Given the description of an element on the screen output the (x, y) to click on. 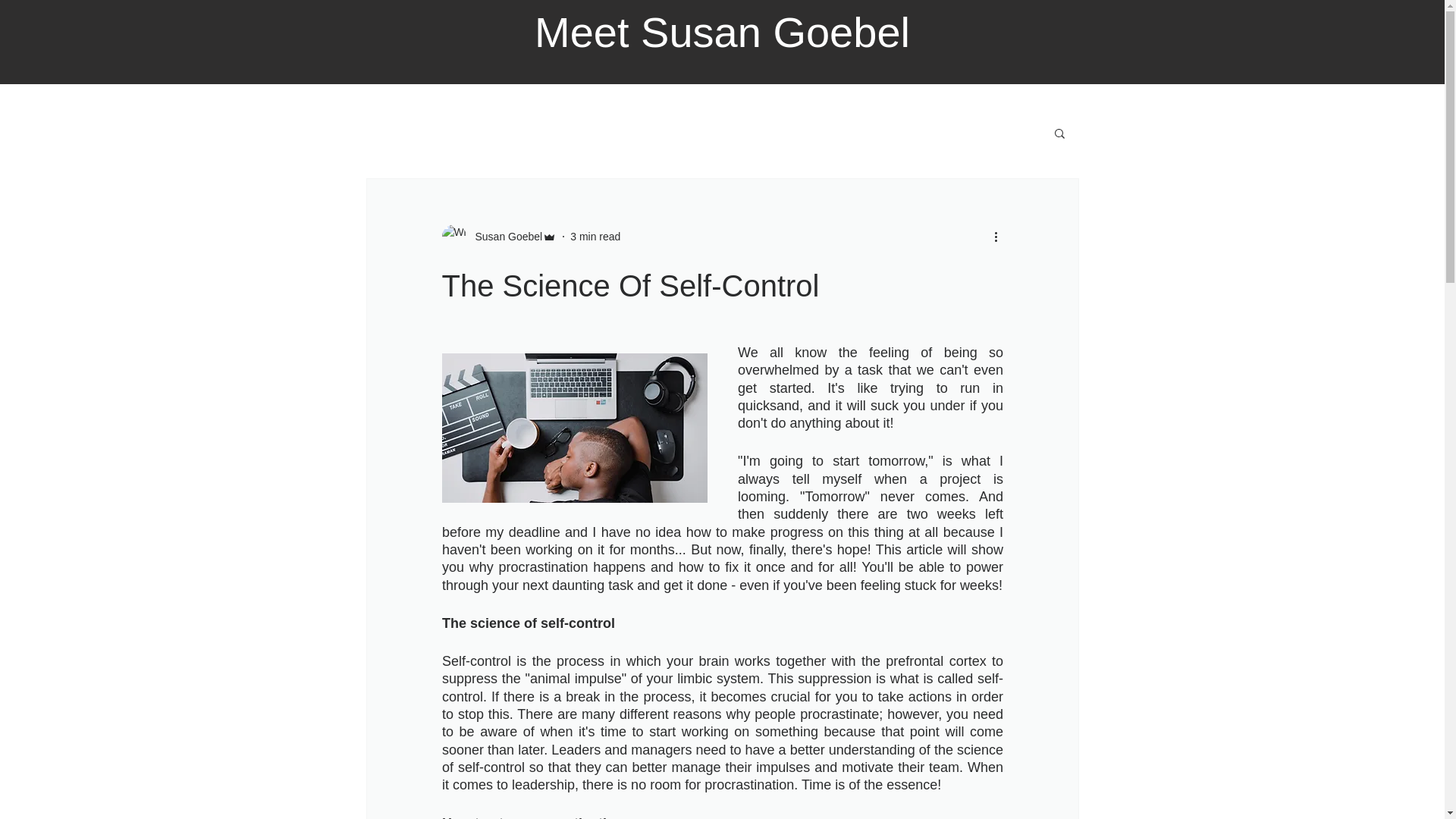
Susan Goebel (503, 236)
Susan Goebel (498, 236)
3 min read (595, 236)
